Given the description of an element on the screen output the (x, y) to click on. 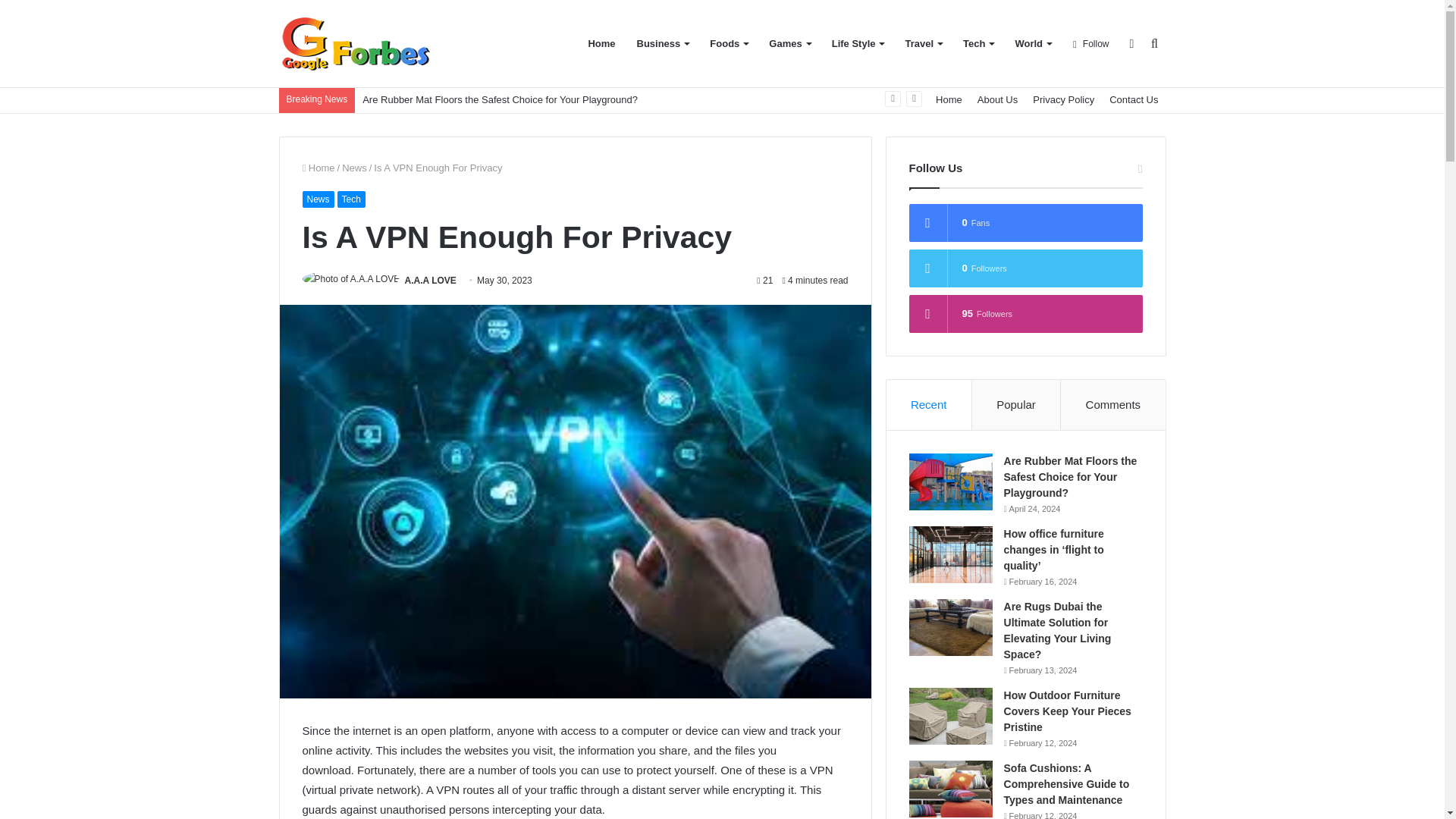
Contact Us (1134, 99)
A.A.A LOVE (430, 280)
Tech (351, 199)
Are Rubber Mat Floors the Safest Choice for Your Playground? (499, 99)
A.A.A LOVE (430, 280)
Privacy Policy (1063, 99)
About Us (997, 99)
Home (317, 167)
News (354, 167)
News (317, 199)
